Given the description of an element on the screen output the (x, y) to click on. 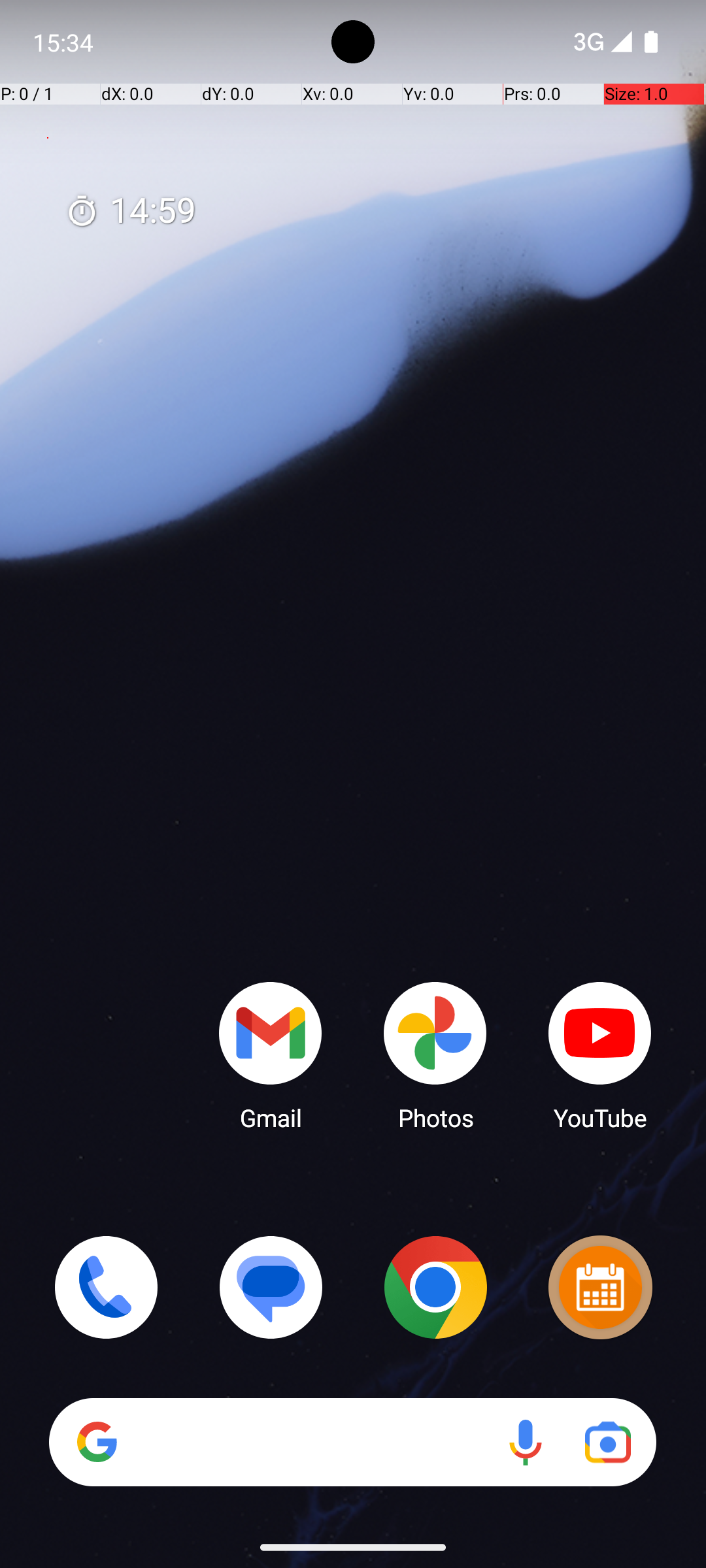
14:59 Element type: android.widget.TextView (130, 210)
